Given the description of an element on the screen output the (x, y) to click on. 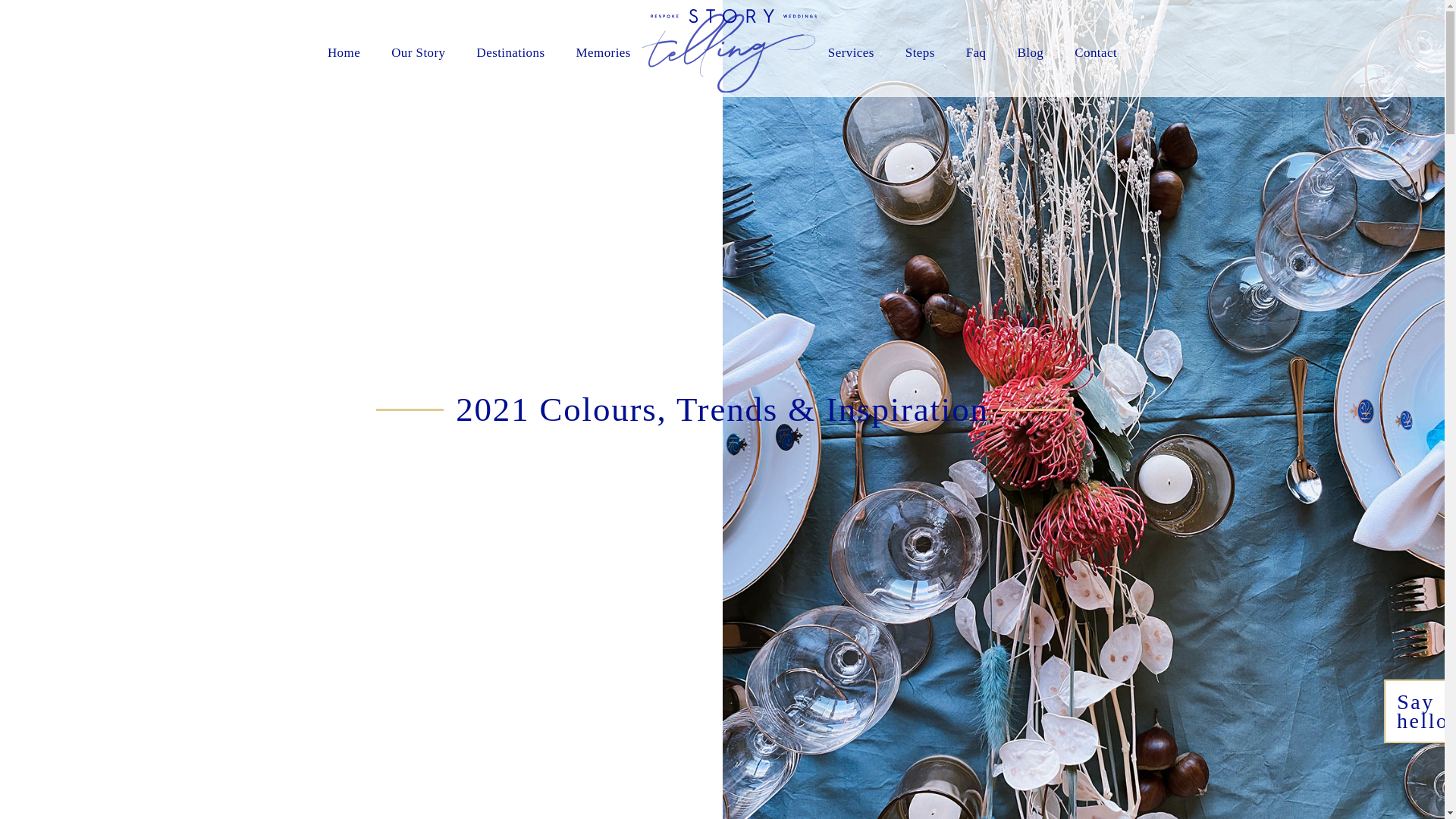
Services (851, 52)
Destinations (510, 52)
Blog (1029, 52)
Faq (976, 52)
Steps (919, 52)
Contact (1095, 52)
Home (343, 52)
Memories (603, 52)
Our Story (418, 52)
